Given the description of an element on the screen output the (x, y) to click on. 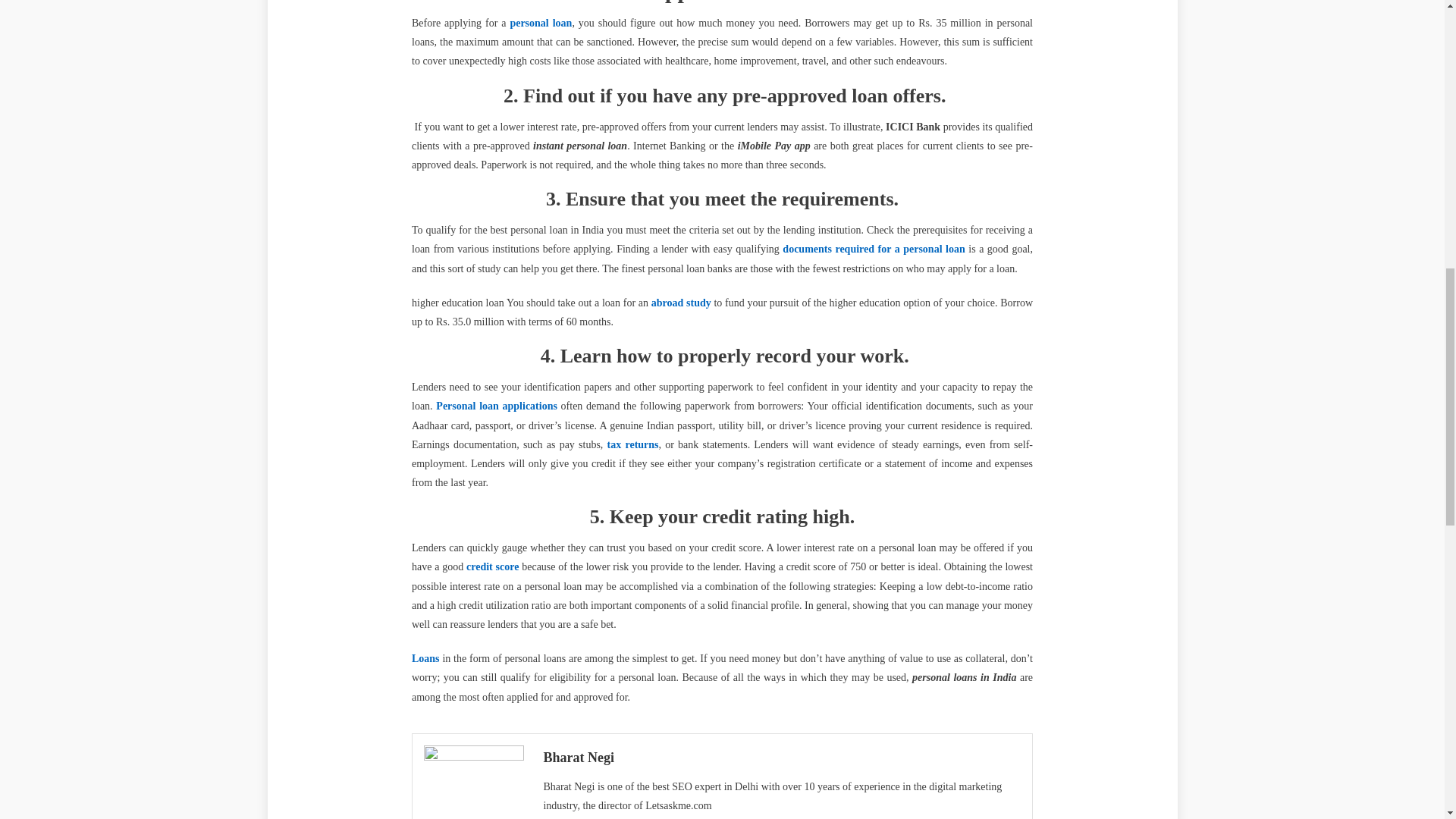
Loans (425, 658)
Personal loan applications (496, 405)
credit score (491, 566)
Bharat Negi (781, 757)
tax returns (633, 444)
documents required for a personal loan (873, 248)
abroad study (680, 302)
personal loan (540, 22)
